Given the description of an element on the screen output the (x, y) to click on. 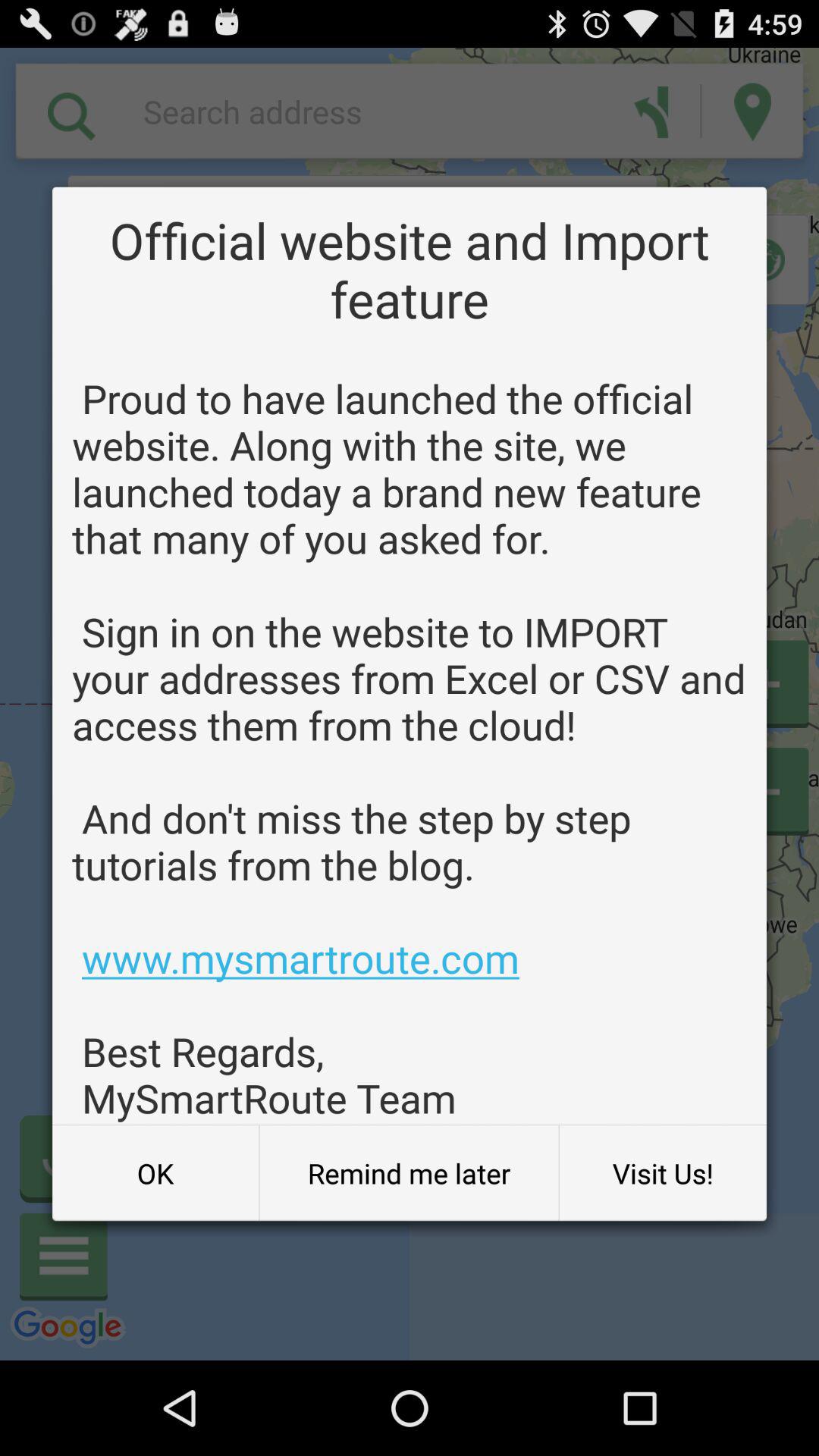
swipe until the ok item (155, 1173)
